Given the description of an element on the screen output the (x, y) to click on. 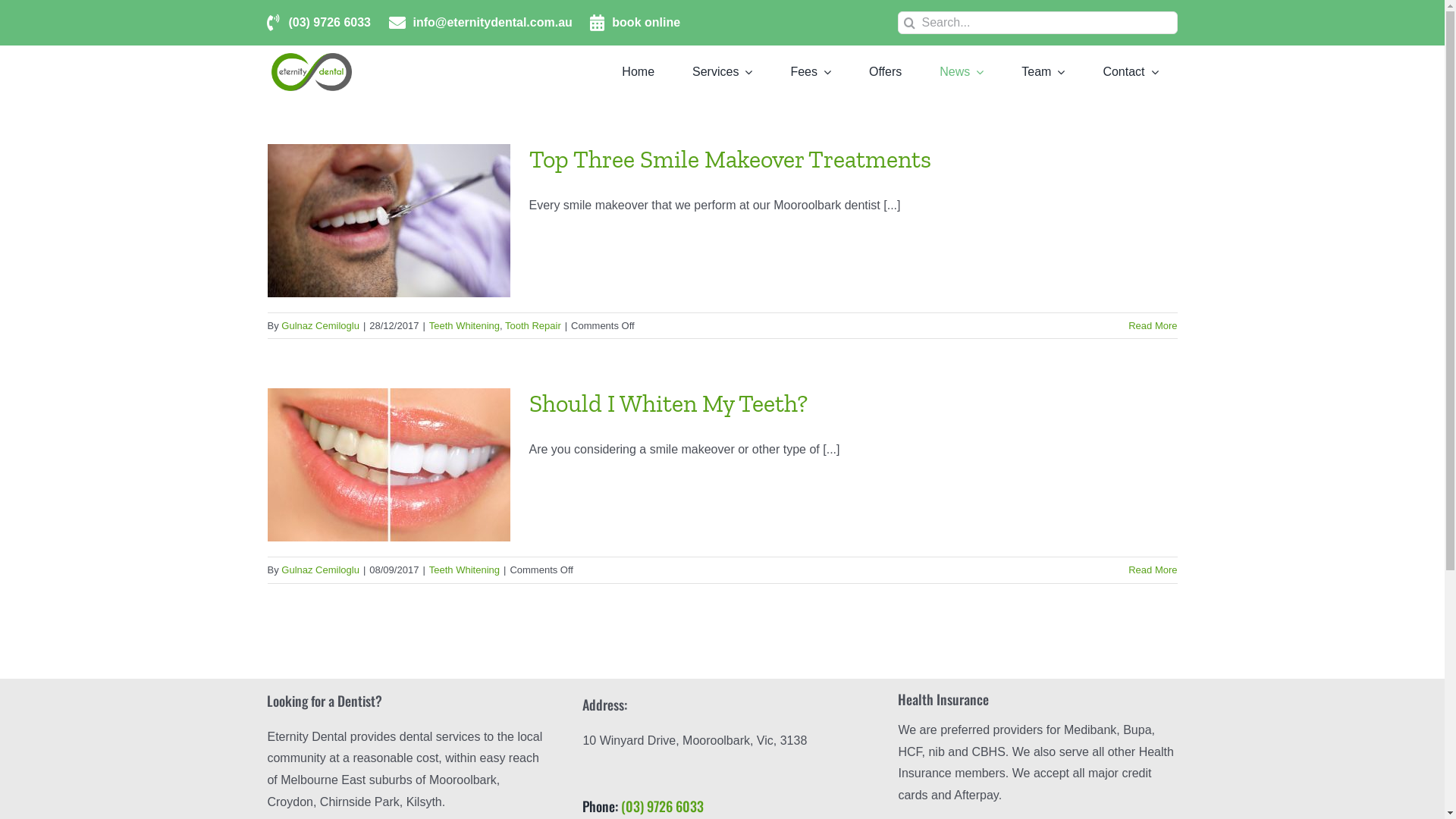
info@eternitydental.com.au Element type: text (491, 21)
Read More Element type: text (1152, 569)
Gulnaz Cemiloglu Element type: text (320, 325)
Services Element type: text (722, 71)
Team Element type: text (1042, 71)
Teeth Whitening Element type: text (464, 325)
book online Element type: text (645, 21)
Read More Element type: text (1152, 325)
Should I Whiten My Teeth? Element type: text (668, 403)
Gulnaz Cemiloglu Element type: text (320, 569)
Contact Element type: text (1129, 71)
Fees Element type: text (810, 71)
Teeth Whitening Element type: text (464, 569)
(03) 9726 6033 Element type: text (329, 21)
Tooth Repair Element type: text (533, 325)
Home Element type: text (637, 71)
(03) 9726 6033 Element type: text (662, 805)
News Element type: text (961, 71)
Top Three Smile Makeover Treatments Element type: text (730, 158)
Offers Element type: text (885, 71)
